Given the description of an element on the screen output the (x, y) to click on. 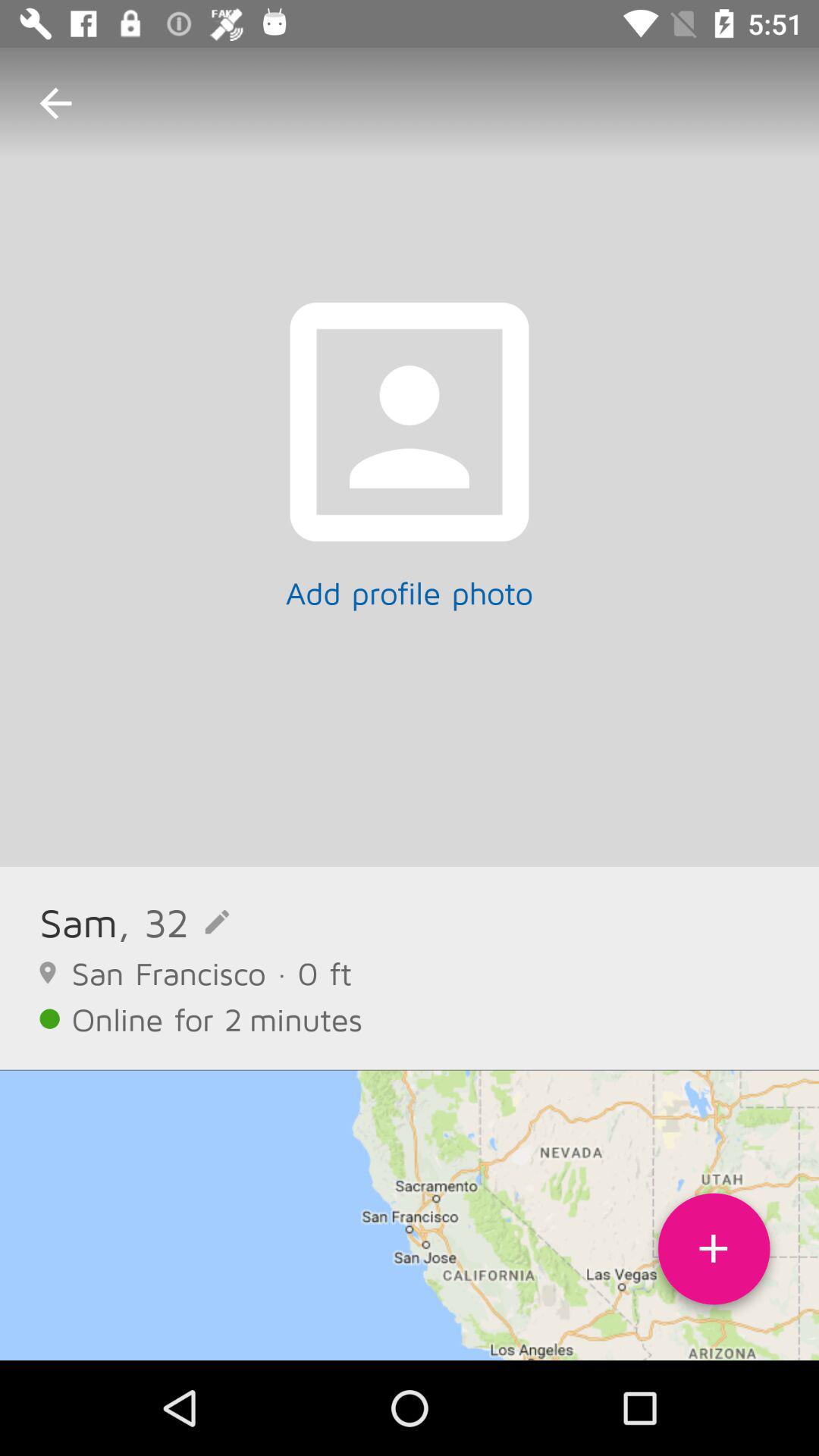
tap icon to the left of , 32 icon (78, 921)
